Given the description of an element on the screen output the (x, y) to click on. 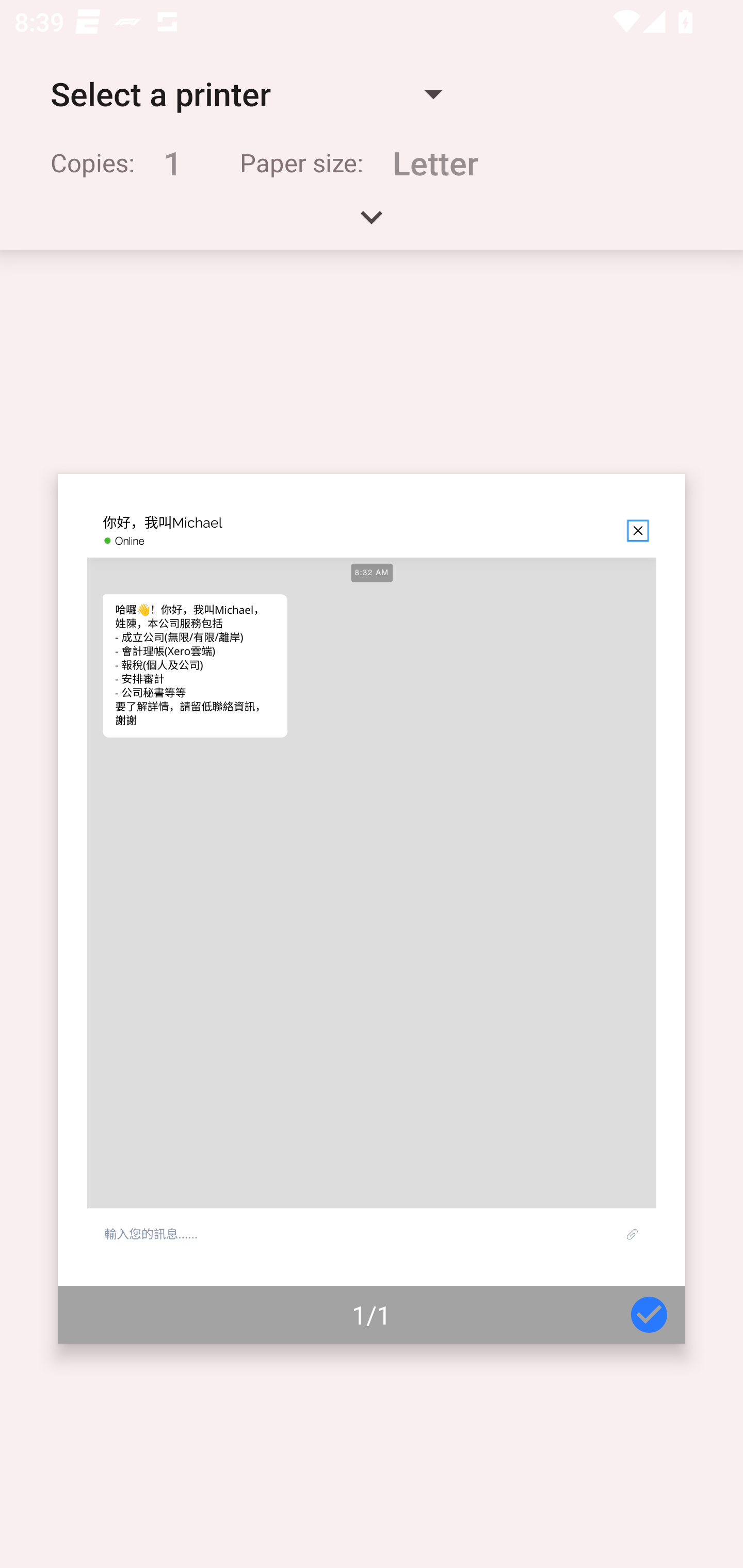
Select a printer (245, 93)
Expand handle (371, 224)
Page 1 of 1 1/1 (371, 908)
